Given the description of an element on the screen output the (x, y) to click on. 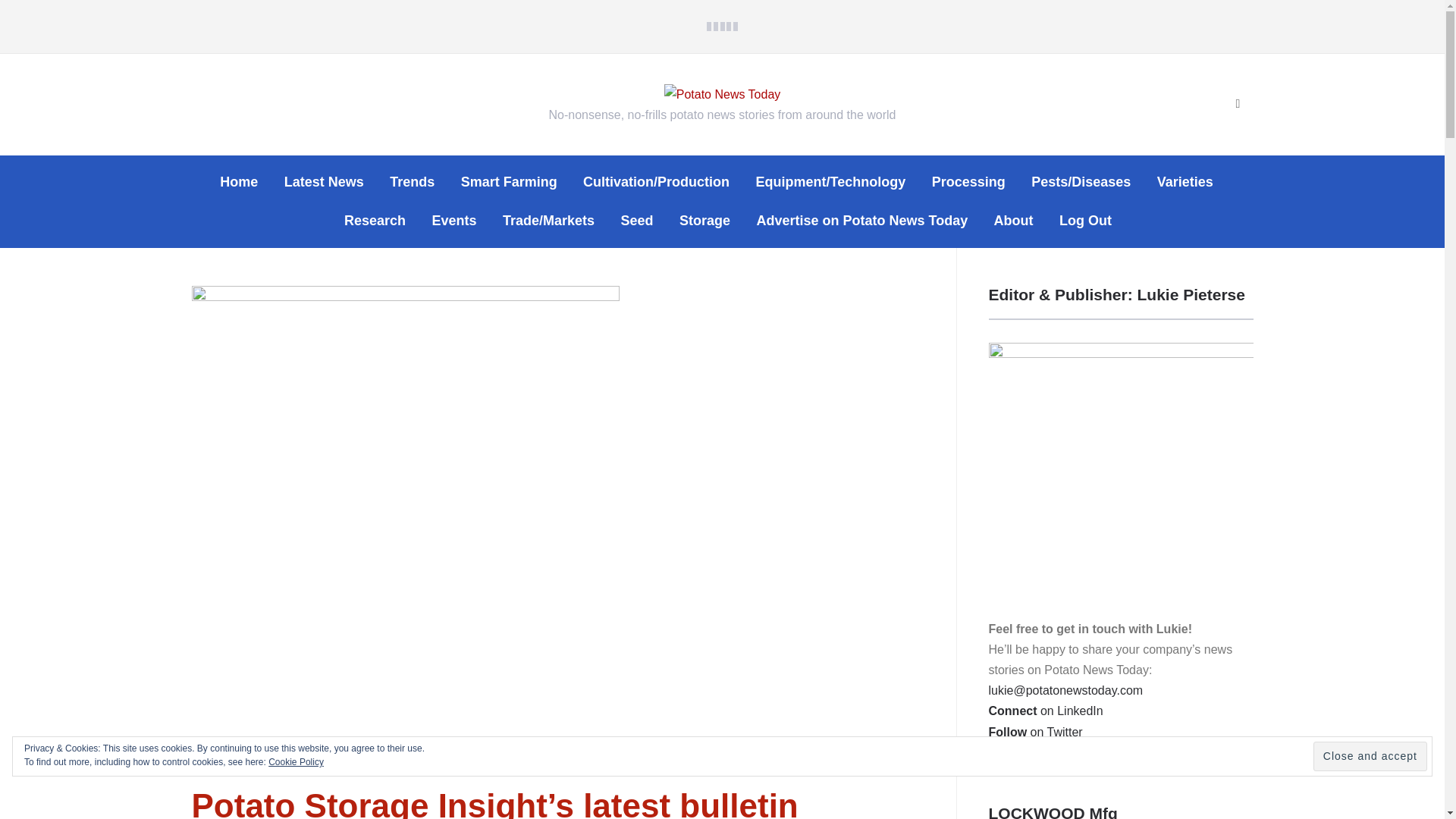
Smart Farming (509, 181)
Trends (411, 181)
Search (1237, 104)
Home (238, 181)
Close and accept (1369, 756)
Varieties (1184, 181)
Processing (968, 181)
Latest News (323, 181)
